Given the description of an element on the screen output the (x, y) to click on. 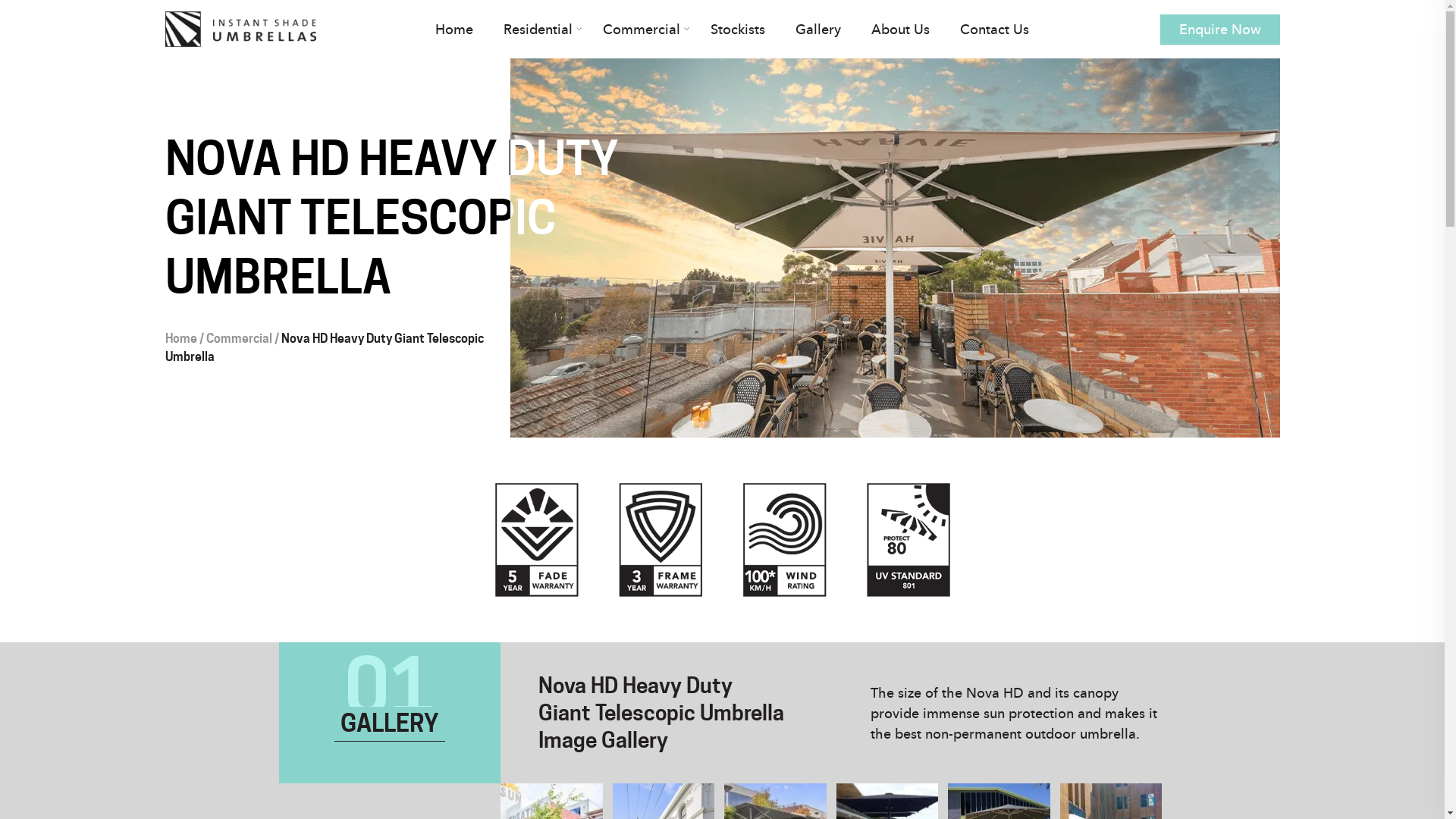
Commercial Element type: text (239, 338)
Search Element type: text (17, 15)
About Us Element type: text (900, 28)
Stockists Element type: text (737, 28)
Residential Element type: text (537, 28)
Home Element type: text (454, 28)
Home Element type: text (181, 338)
Contact Us Element type: text (994, 28)
Commercial Element type: text (641, 28)
Nova_Opt Element type: hover (721, 539)
Gallery Element type: text (817, 28)
Enquire Now Element type: text (1220, 28)
